Given the description of an element on the screen output the (x, y) to click on. 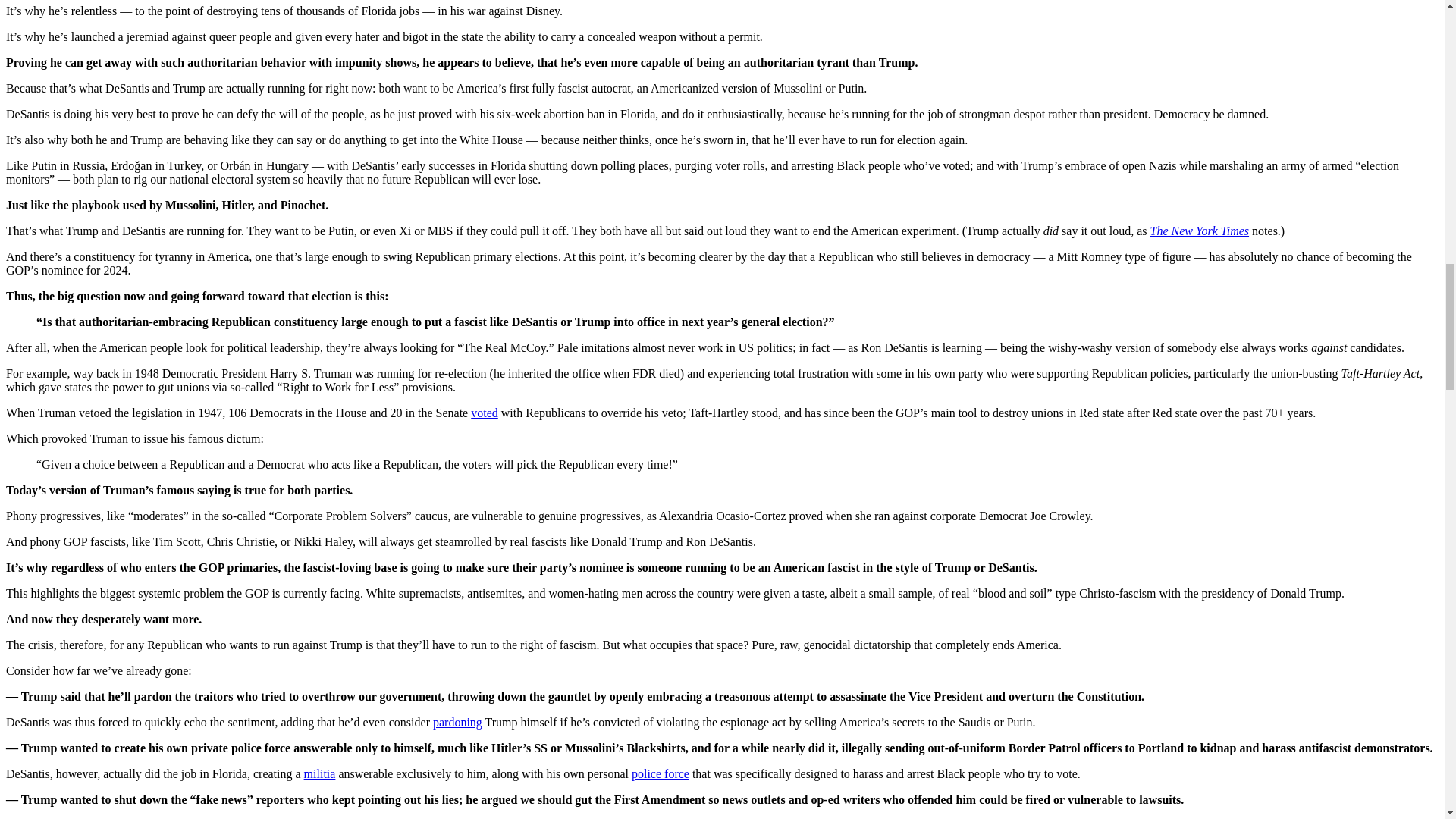
The New York Times (1199, 230)
militia (320, 773)
police force (659, 773)
pardoning (456, 721)
voted (483, 412)
